Given the description of an element on the screen output the (x, y) to click on. 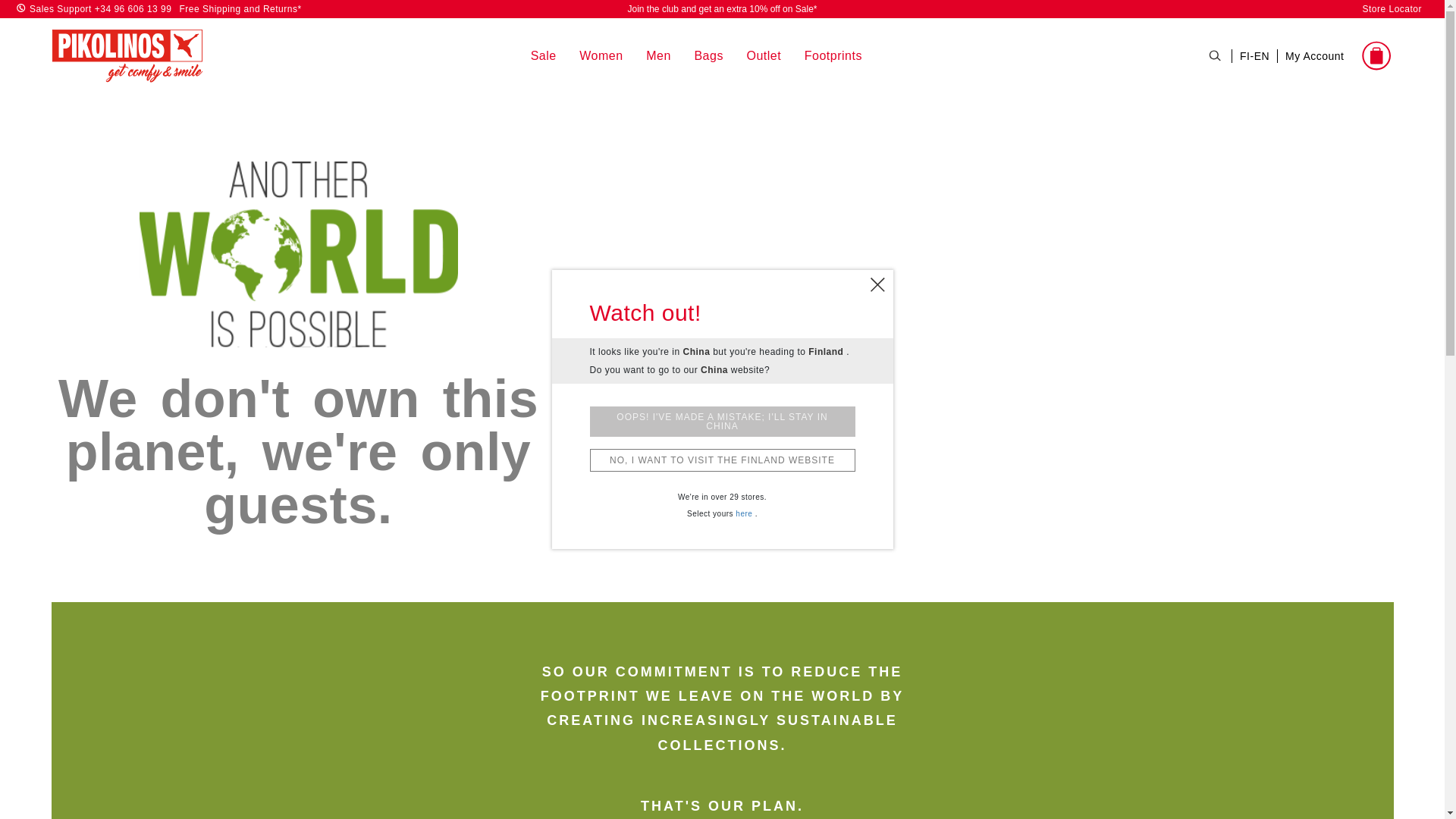
Store Locator (1391, 8)
Women (600, 55)
Pikolinos Home (126, 54)
Sale (543, 55)
Women (600, 55)
Sale (543, 55)
